Given the description of an element on the screen output the (x, y) to click on. 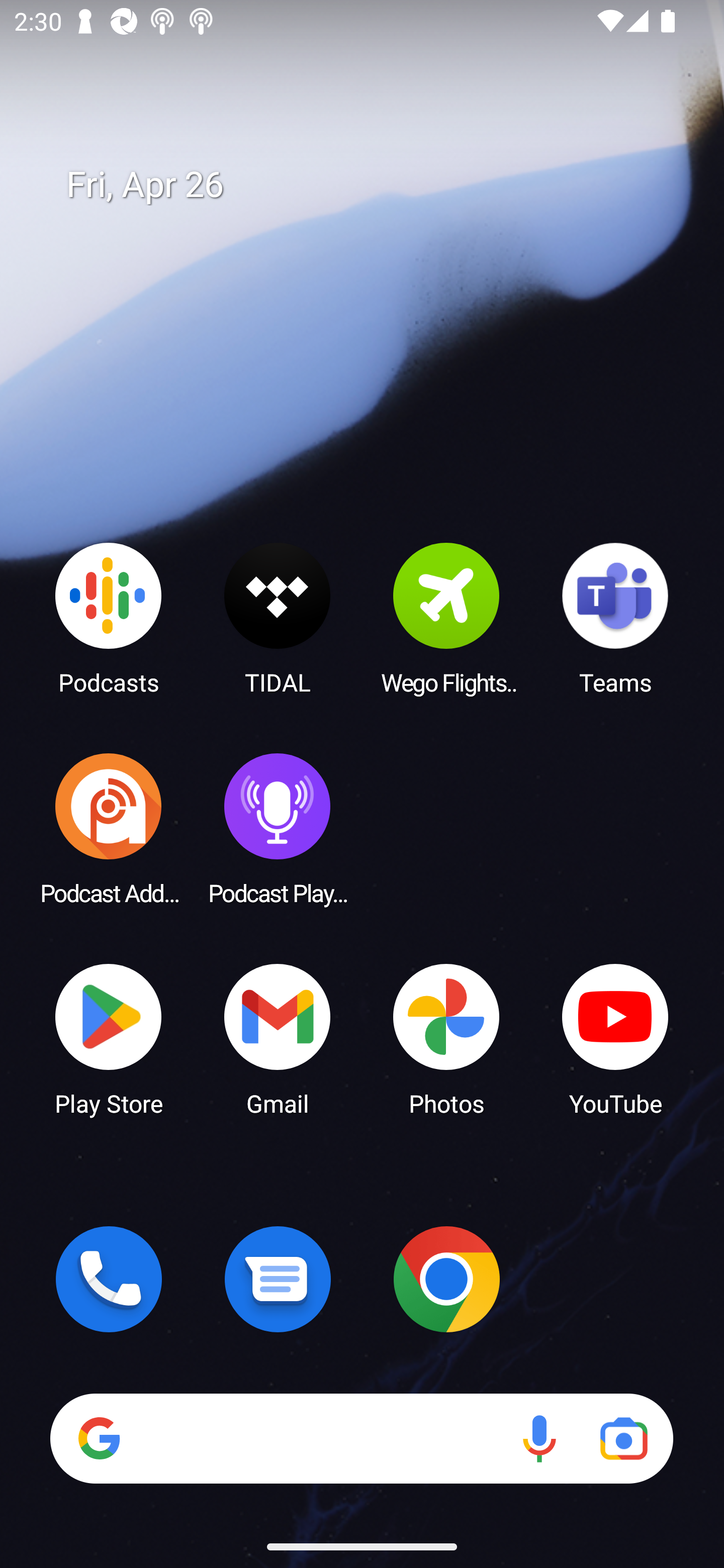
Fri, Apr 26 (375, 184)
Podcasts (108, 617)
TIDAL (277, 617)
Wego Flights & Hotels (445, 617)
Teams (615, 617)
Podcast Addict (108, 828)
Podcast Player (277, 828)
Play Store (108, 1038)
Gmail (277, 1038)
Photos (445, 1038)
YouTube (615, 1038)
Phone (108, 1279)
Messages (277, 1279)
Chrome (446, 1279)
Search Voice search Google Lens (361, 1438)
Voice search (539, 1438)
Google Lens (623, 1438)
